Given the description of an element on the screen output the (x, y) to click on. 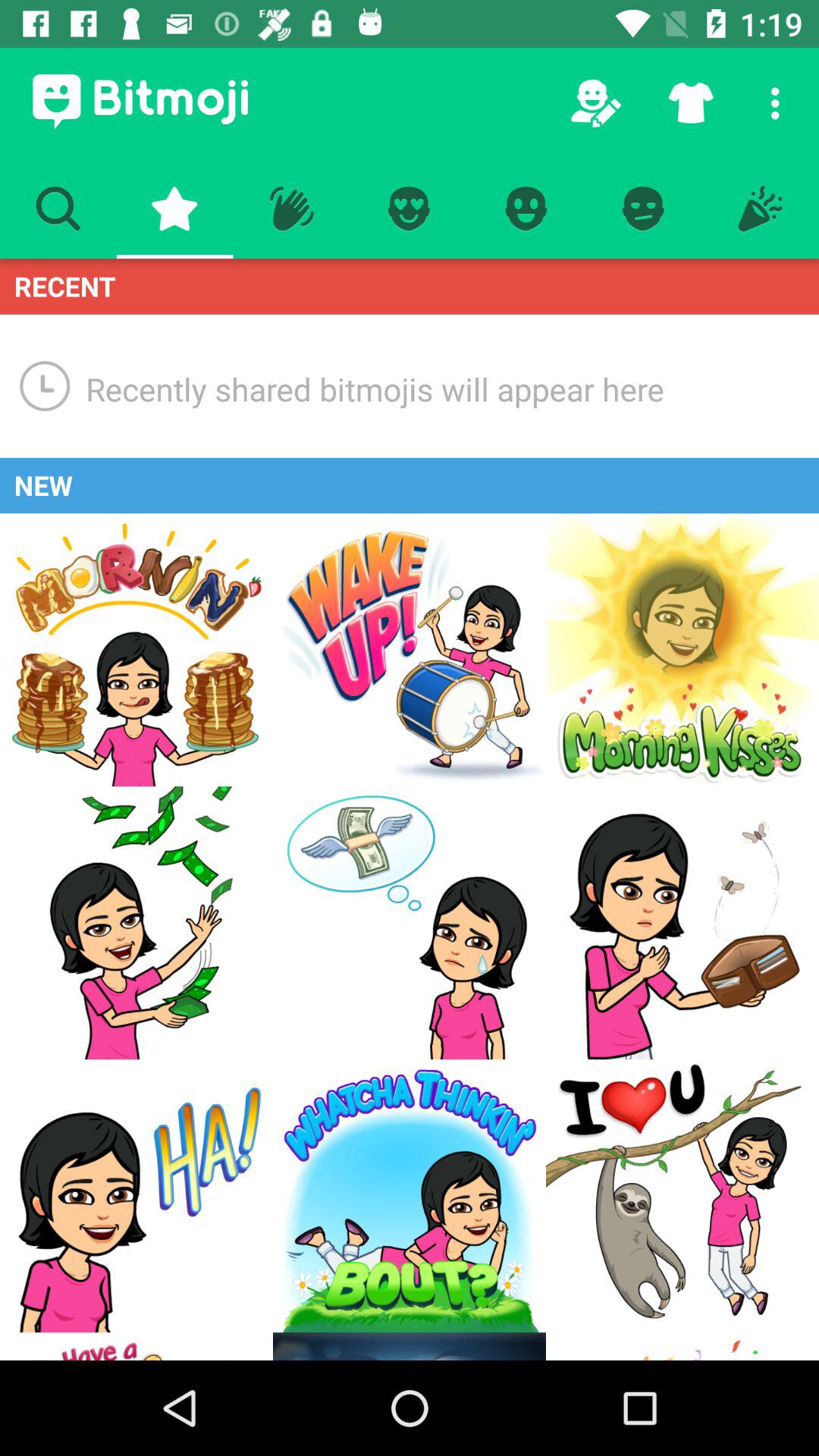
click to go to a new option (136, 649)
